Given the description of an element on the screen output the (x, y) to click on. 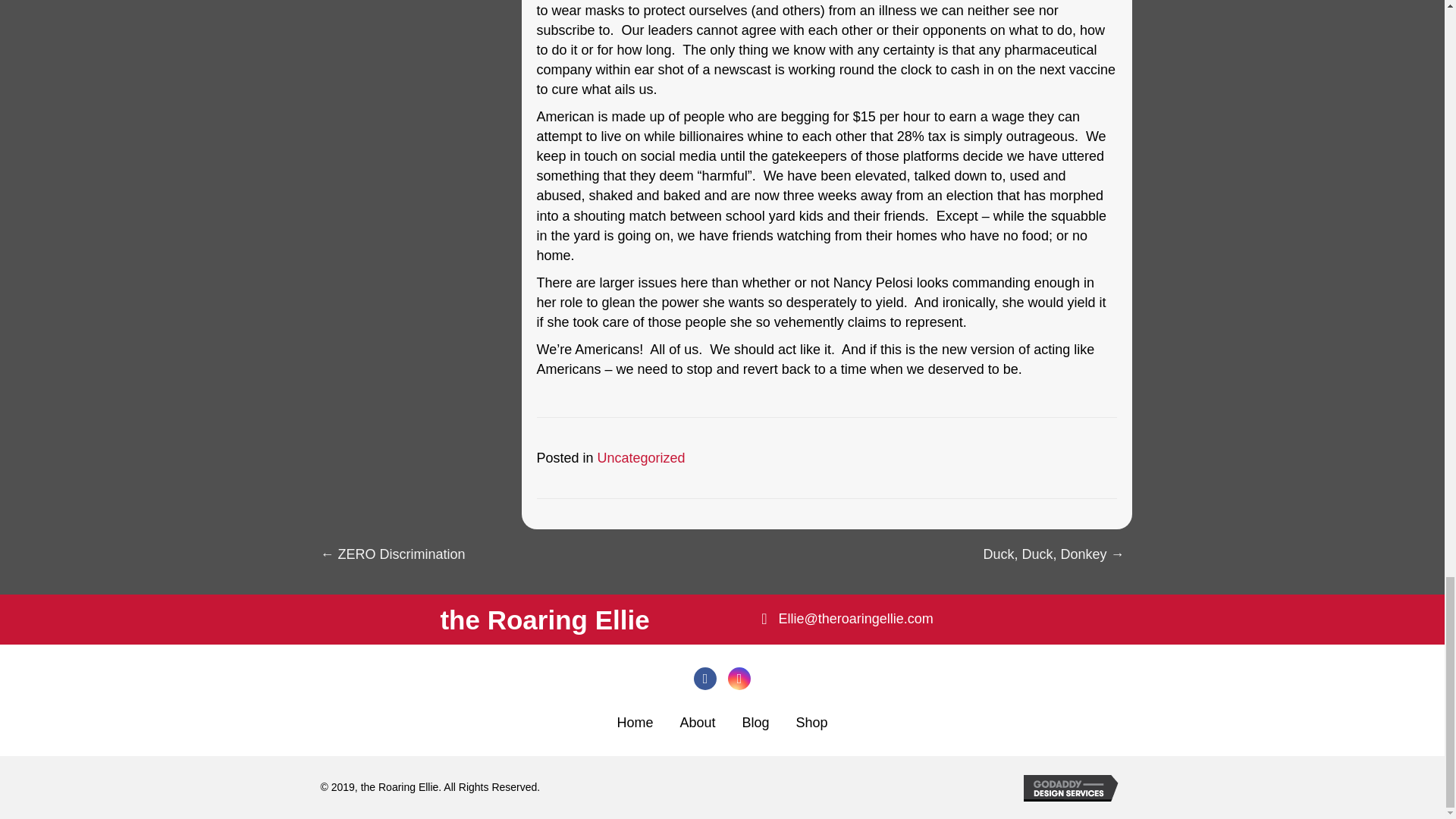
Facebook (705, 678)
the Roaring Ellie (544, 619)
About (697, 722)
the Roaring Ellie (544, 619)
Blog (755, 722)
Home (634, 722)
Shop (812, 722)
Instagram (739, 678)
Uncategorized (640, 458)
